Given the description of an element on the screen output the (x, y) to click on. 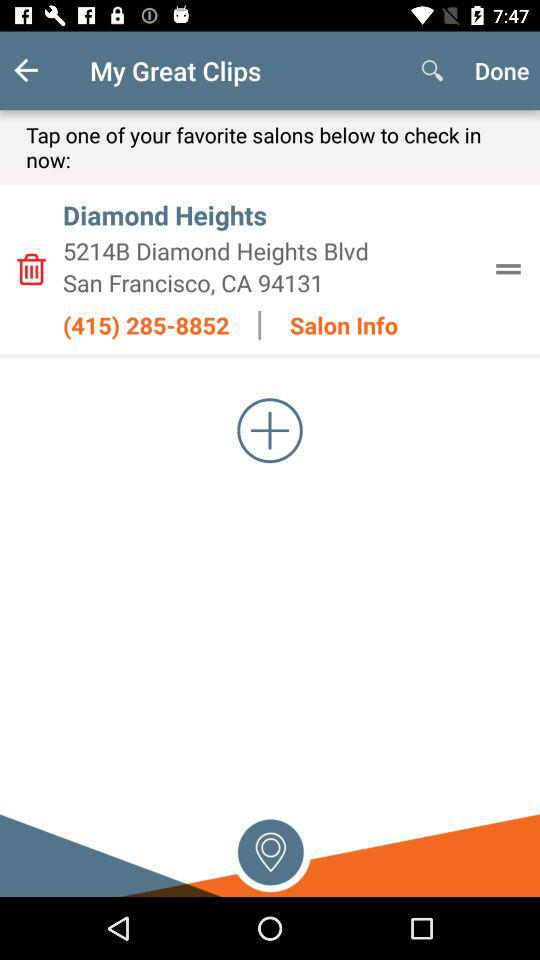
press the icon above the san francisco ca item (269, 250)
